Given the description of an element on the screen output the (x, y) to click on. 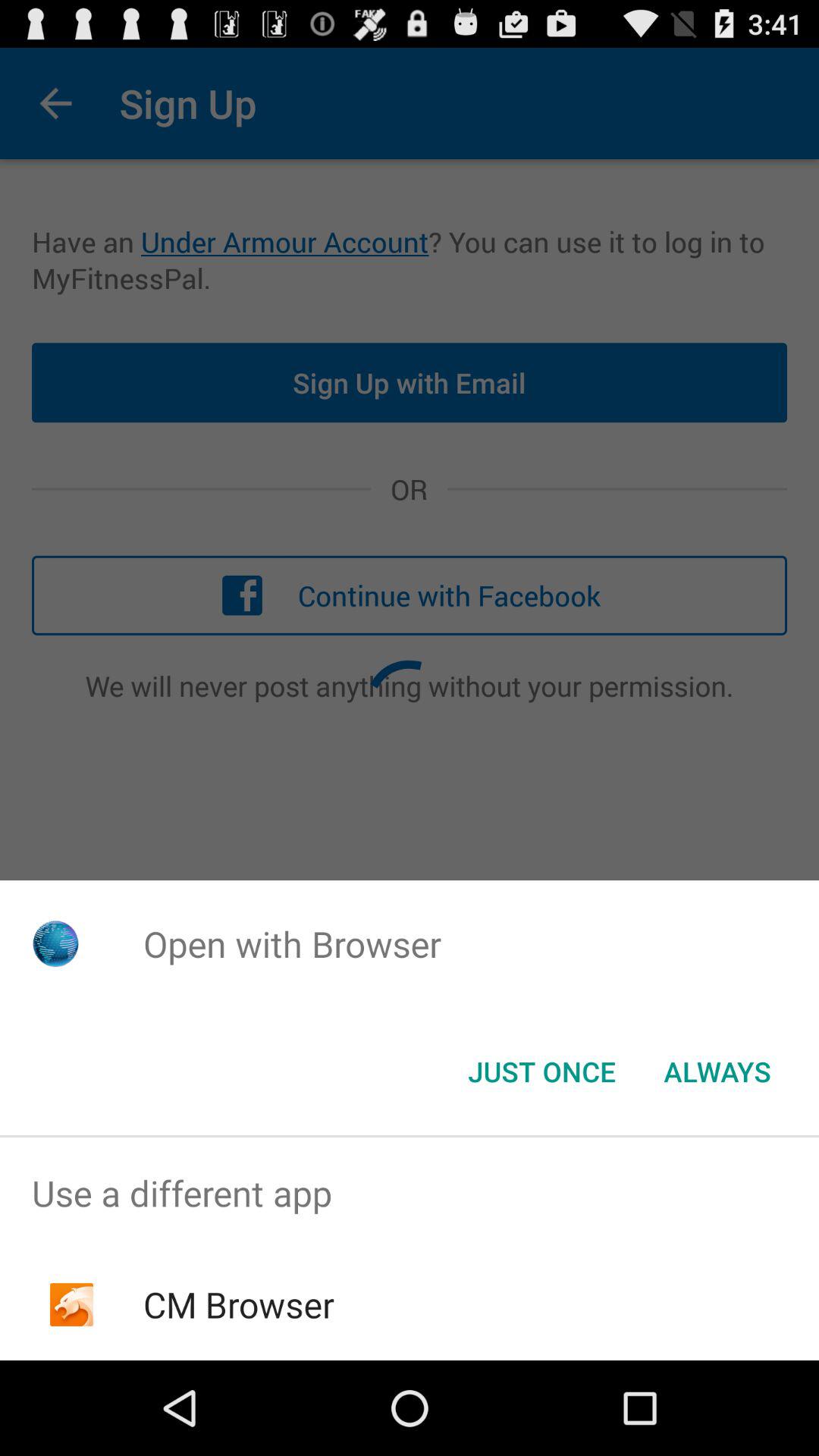
turn off the use a different app (409, 1192)
